Given the description of an element on the screen output the (x, y) to click on. 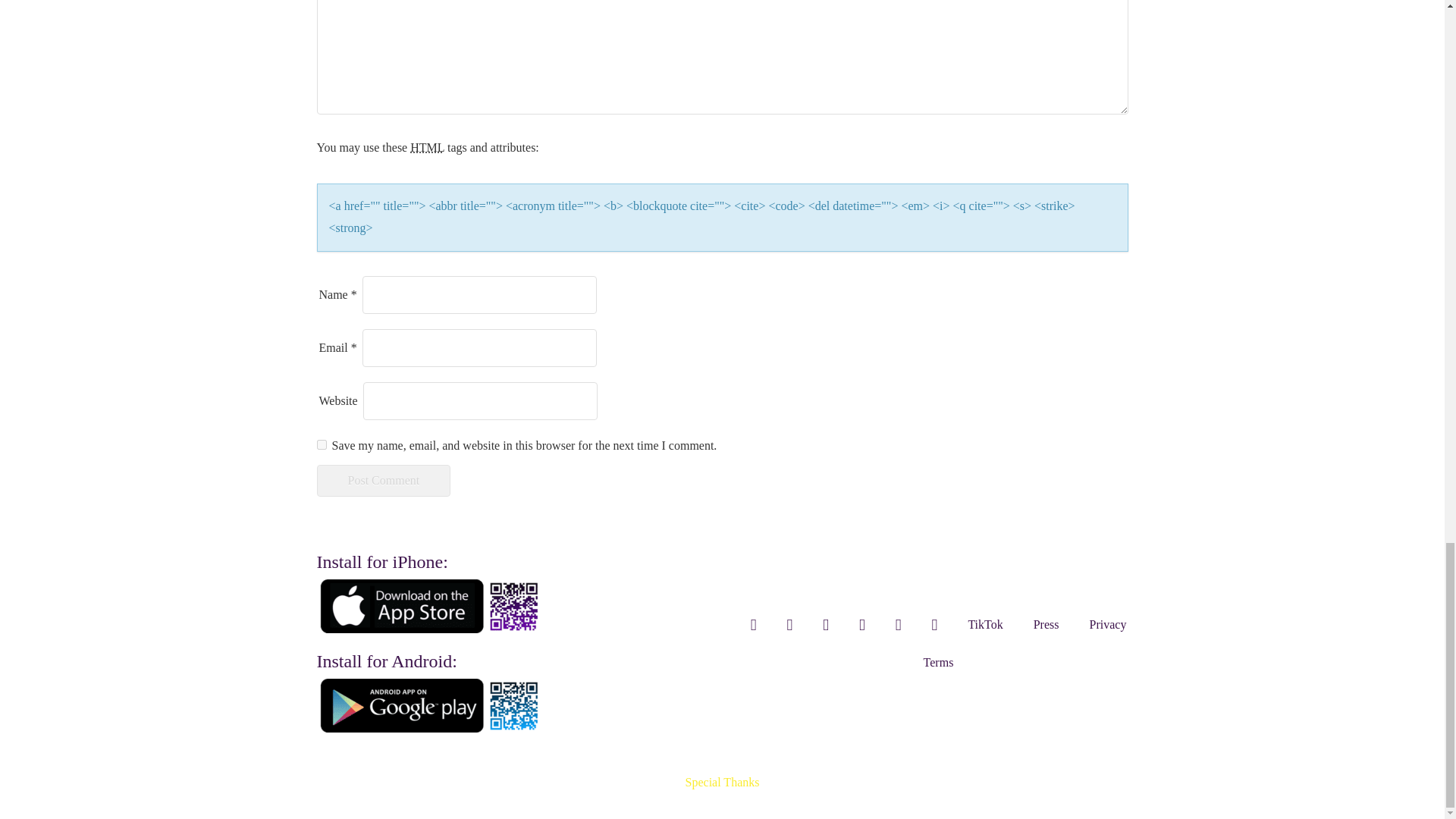
Post Comment (384, 480)
facebook (826, 624)
yes (321, 444)
Install Spinnr here: (430, 606)
HyperText Markup Language (427, 146)
instagram (753, 624)
YouTube (862, 624)
Post Comment (384, 480)
twitter (789, 624)
